Given the description of an element on the screen output the (x, y) to click on. 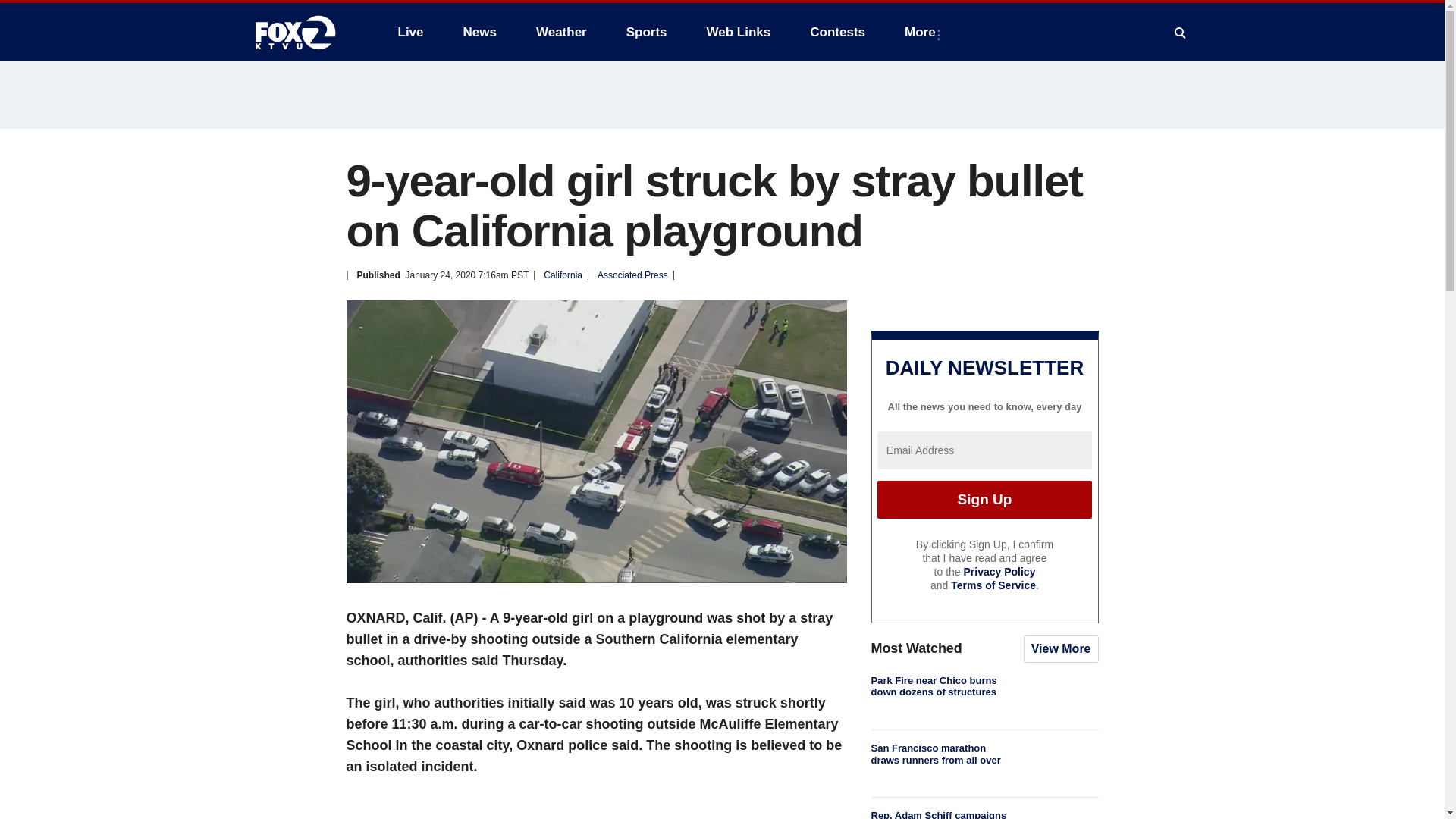
News (479, 32)
Web Links (738, 32)
Sign Up (984, 499)
Weather (561, 32)
Contests (837, 32)
More (922, 32)
Live (410, 32)
Sports (646, 32)
